Given the description of an element on the screen output the (x, y) to click on. 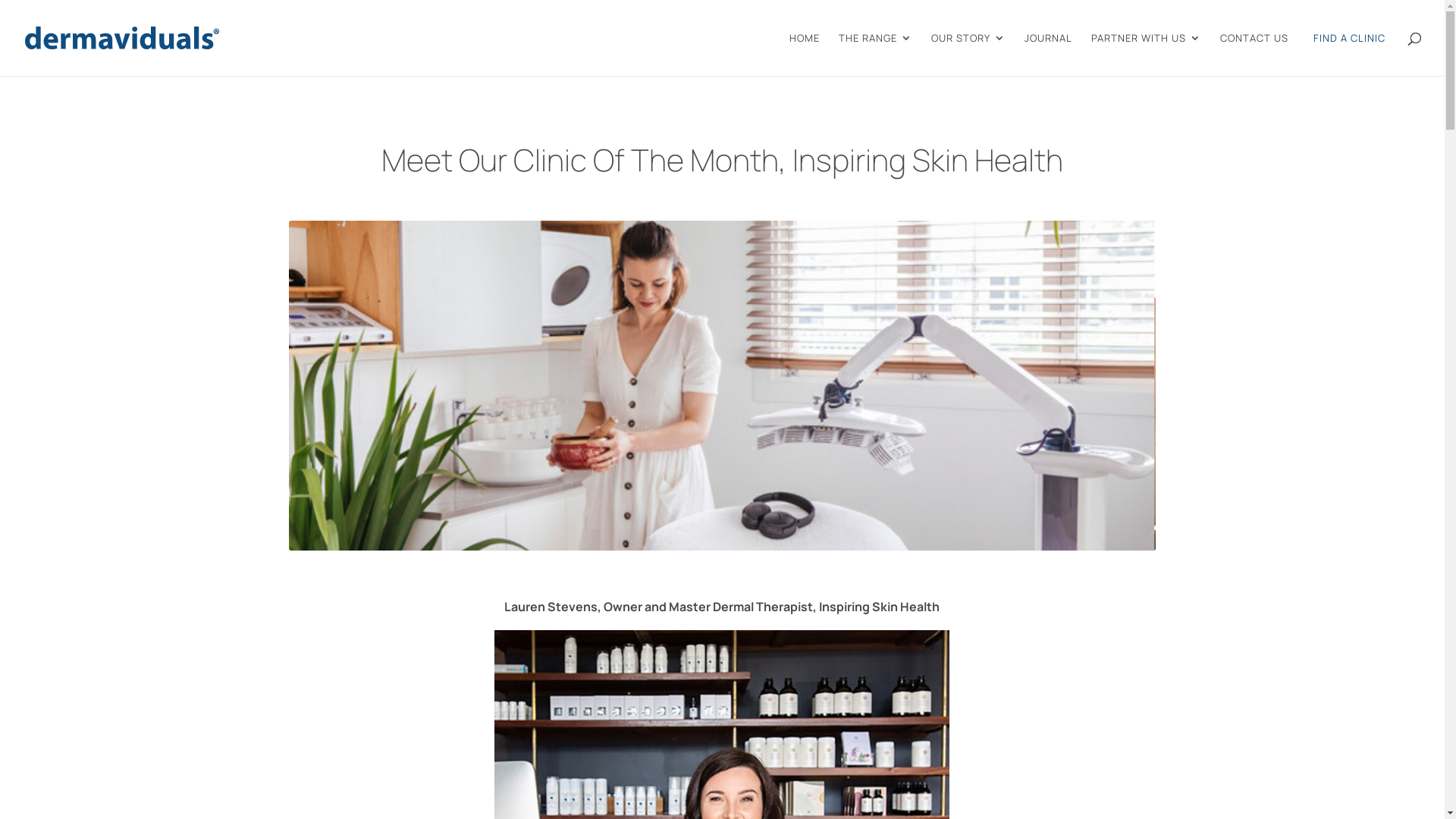
Feature blog Element type: hover (721, 385)
HOME Element type: text (804, 53)
FIND A CLINIC Element type: text (1349, 50)
CONTACT US Element type: text (1254, 53)
OUR STORY Element type: text (968, 53)
PARTNER WITH US Element type: text (1146, 53)
THE RANGE Element type: text (875, 53)
JOURNAL Element type: text (1048, 53)
